Given the description of an element on the screen output the (x, y) to click on. 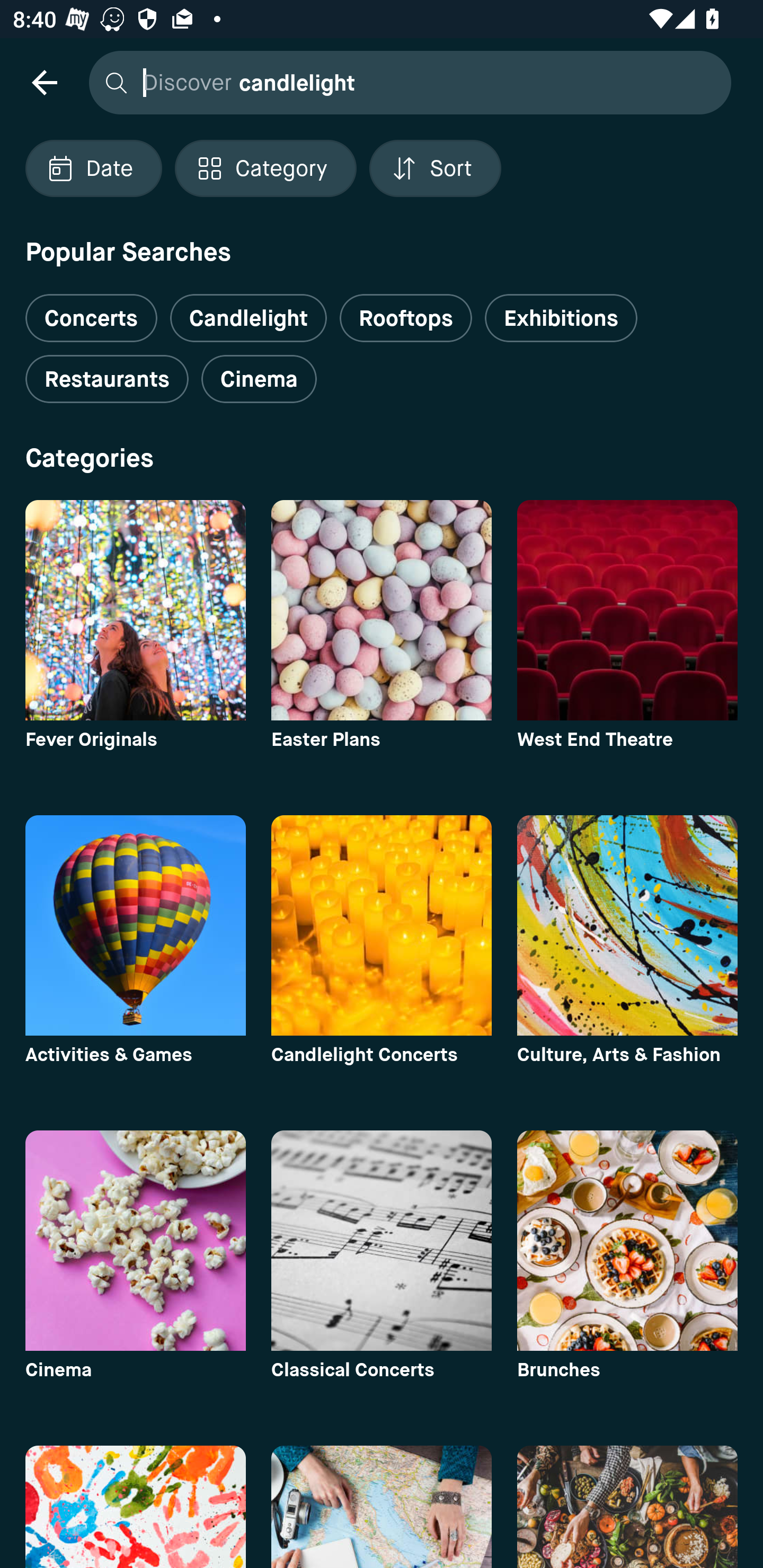
navigation icon (44, 81)
Discover candlelight (405, 81)
Localized description Date (93, 168)
Localized description Category (265, 168)
Localized description Sort (435, 168)
Concerts (91, 310)
Candlelight (248, 317)
Rooftops (405, 317)
Exhibitions (560, 317)
Restaurants (106, 379)
Cinema (258, 379)
category image (135, 609)
category image (381, 609)
category image (627, 609)
category image (135, 924)
category image (381, 924)
category image (627, 924)
category image (135, 1240)
category image (381, 1240)
category image (627, 1240)
category image (135, 1506)
category image (381, 1506)
category image (627, 1506)
